Given the description of an element on the screen output the (x, y) to click on. 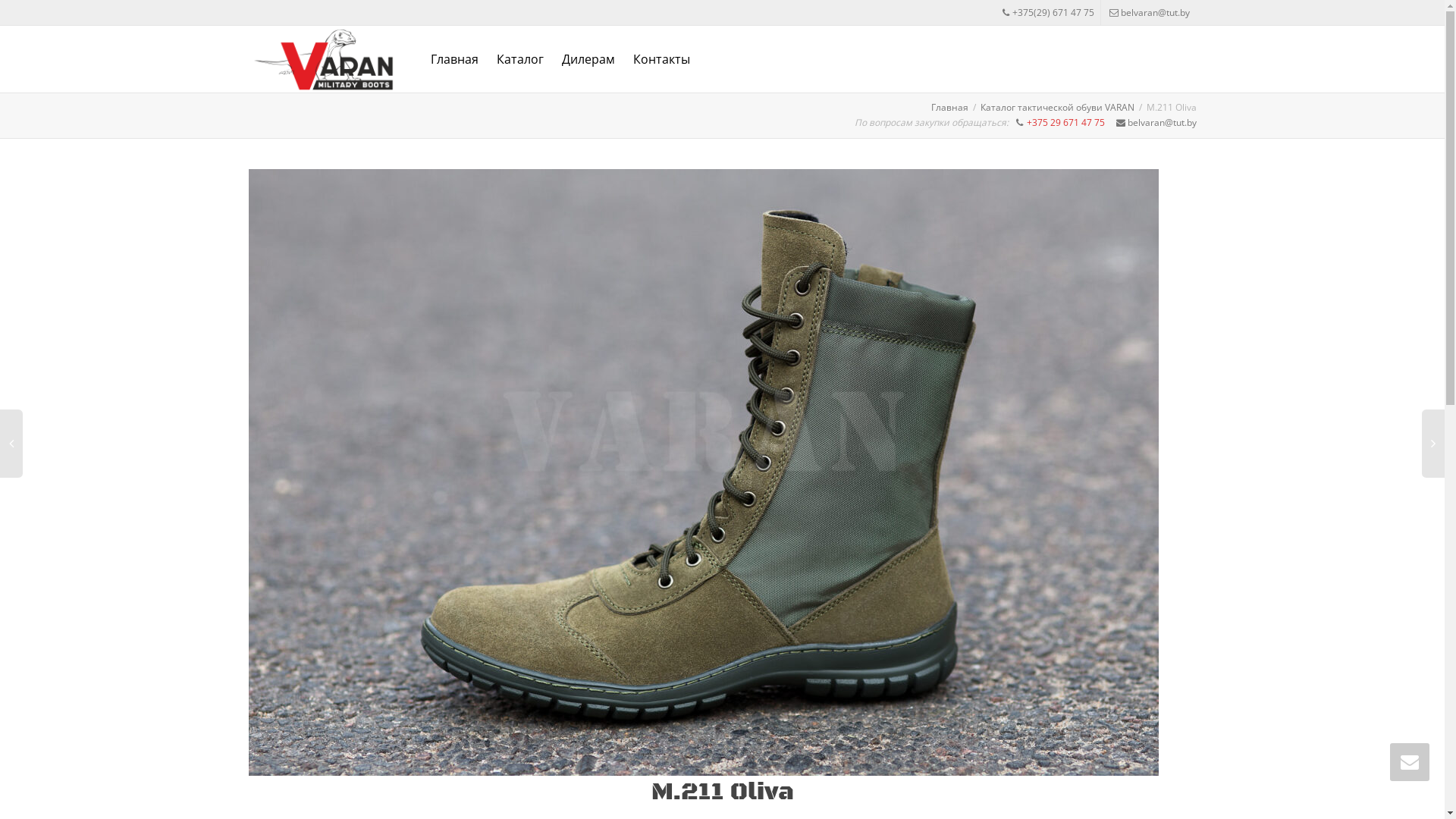
+375(29) 671 47 75 Element type: text (1047, 12)
+375 29 671 47 75 Element type: text (1066, 122)
belvaran@tut.by Element type: text (1149, 12)
